Given the description of an element on the screen output the (x, y) to click on. 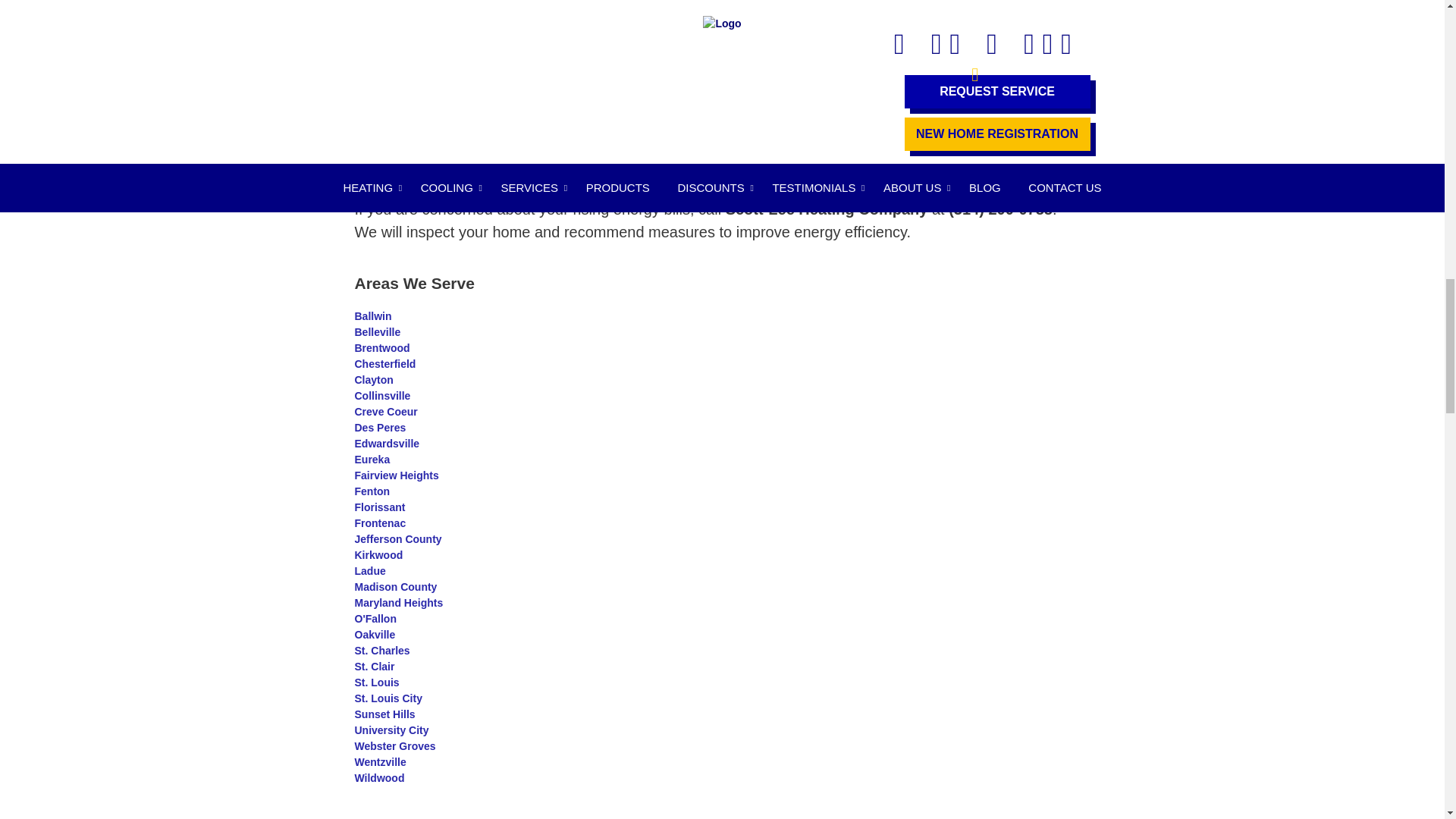
hvac zoning system (424, 117)
